Given the description of an element on the screen output the (x, y) to click on. 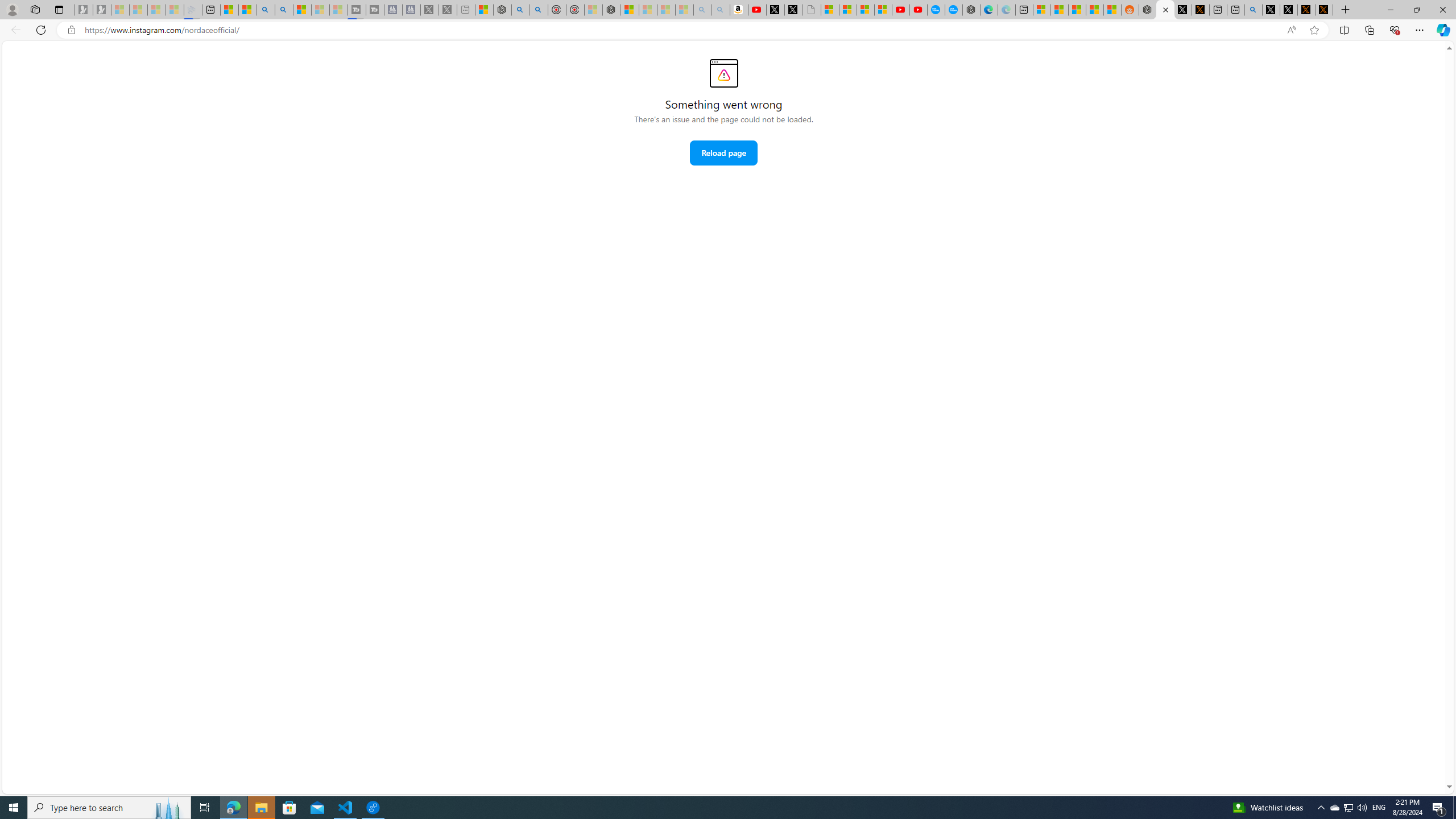
Log in to X / X (1182, 9)
Gloom - YouTube (900, 9)
poe - Search (520, 9)
Error (723, 72)
Nordace - Nordace Siena Is Not An Ordinary Backpack (612, 9)
